Given the description of an element on the screen output the (x, y) to click on. 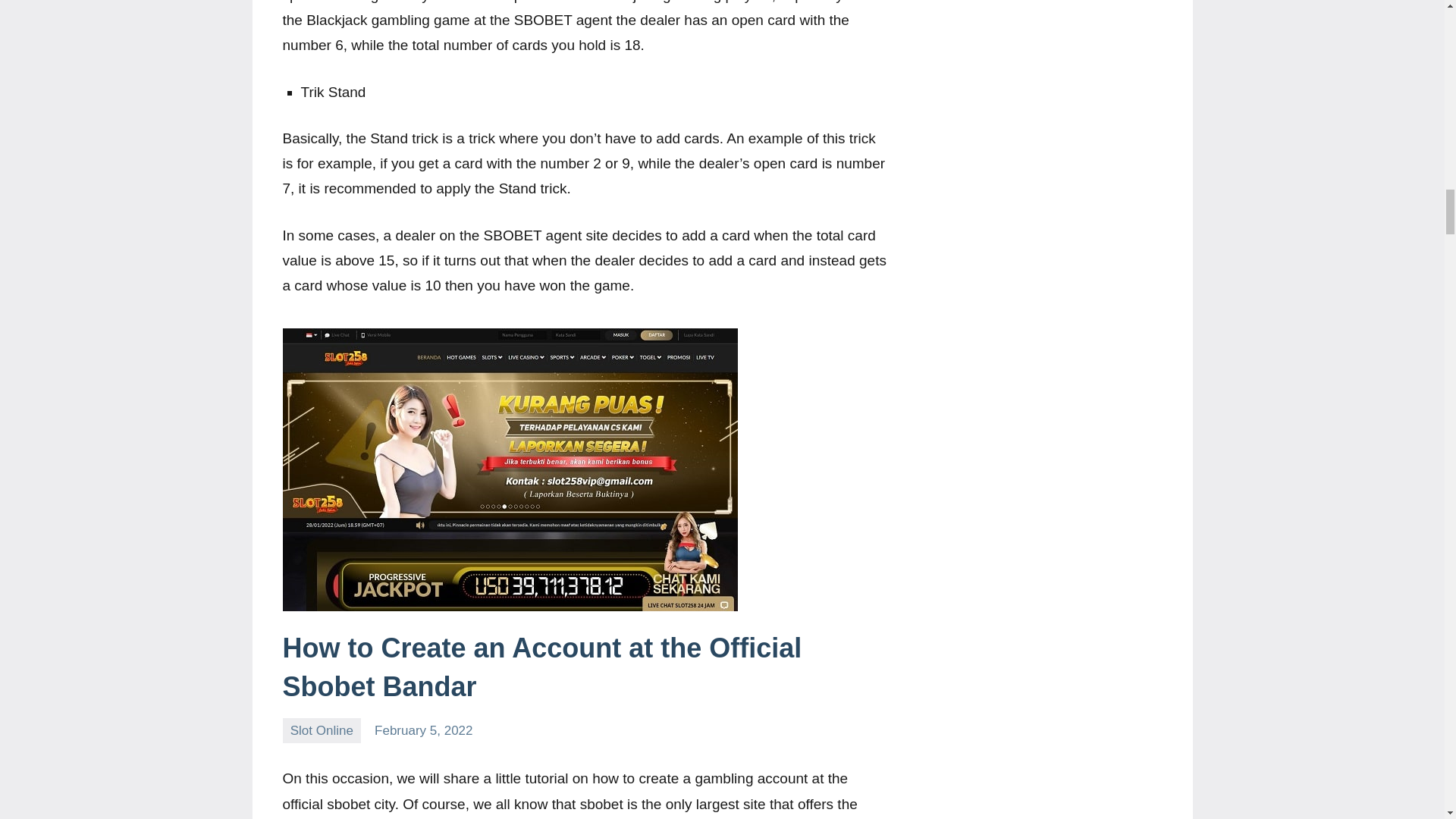
How to Create an Account at the Official Sbobet Bandar (542, 666)
February 5, 2022 (422, 730)
Slot Online (321, 730)
